Given the description of an element on the screen output the (x, y) to click on. 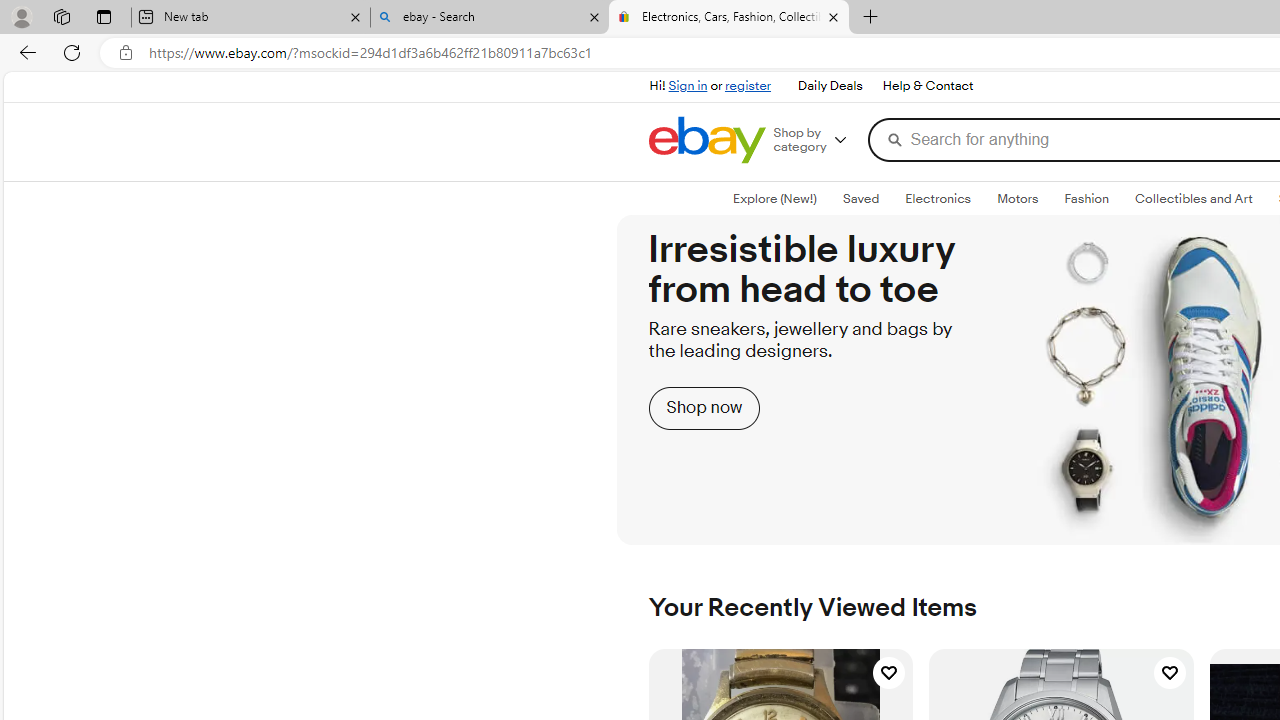
Explore (New!) (774, 198)
